Given the description of an element on the screen output the (x, y) to click on. 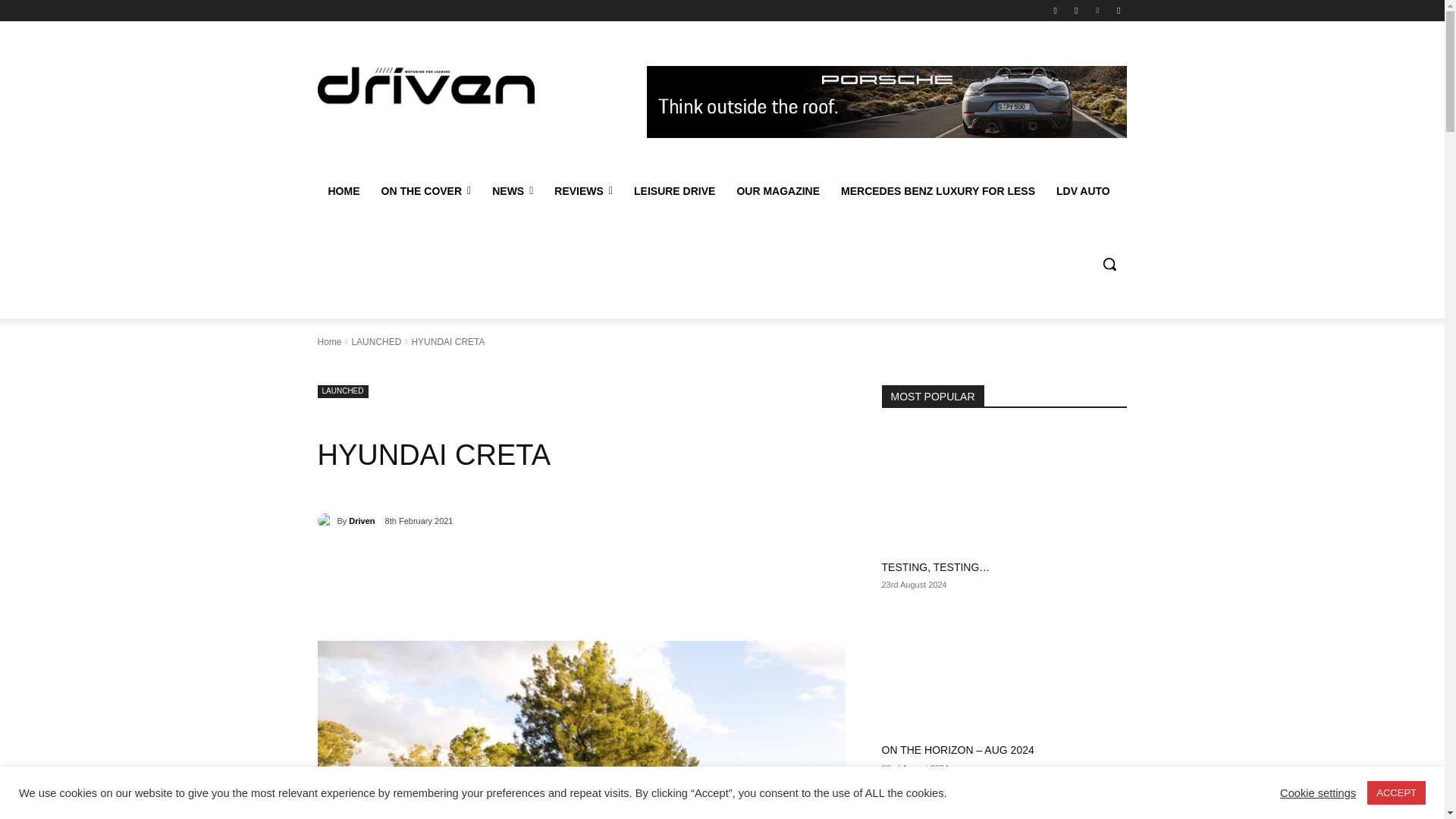
Twitter (1097, 9)
Facebook (1055, 9)
LEISURE DRIVE (674, 190)
Instagram (1075, 9)
Youtube (1117, 9)
HOME (343, 190)
REVIEWS (583, 190)
NEWS (512, 190)
ON THE COVER (425, 190)
HOME (343, 190)
